Given the description of an element on the screen output the (x, y) to click on. 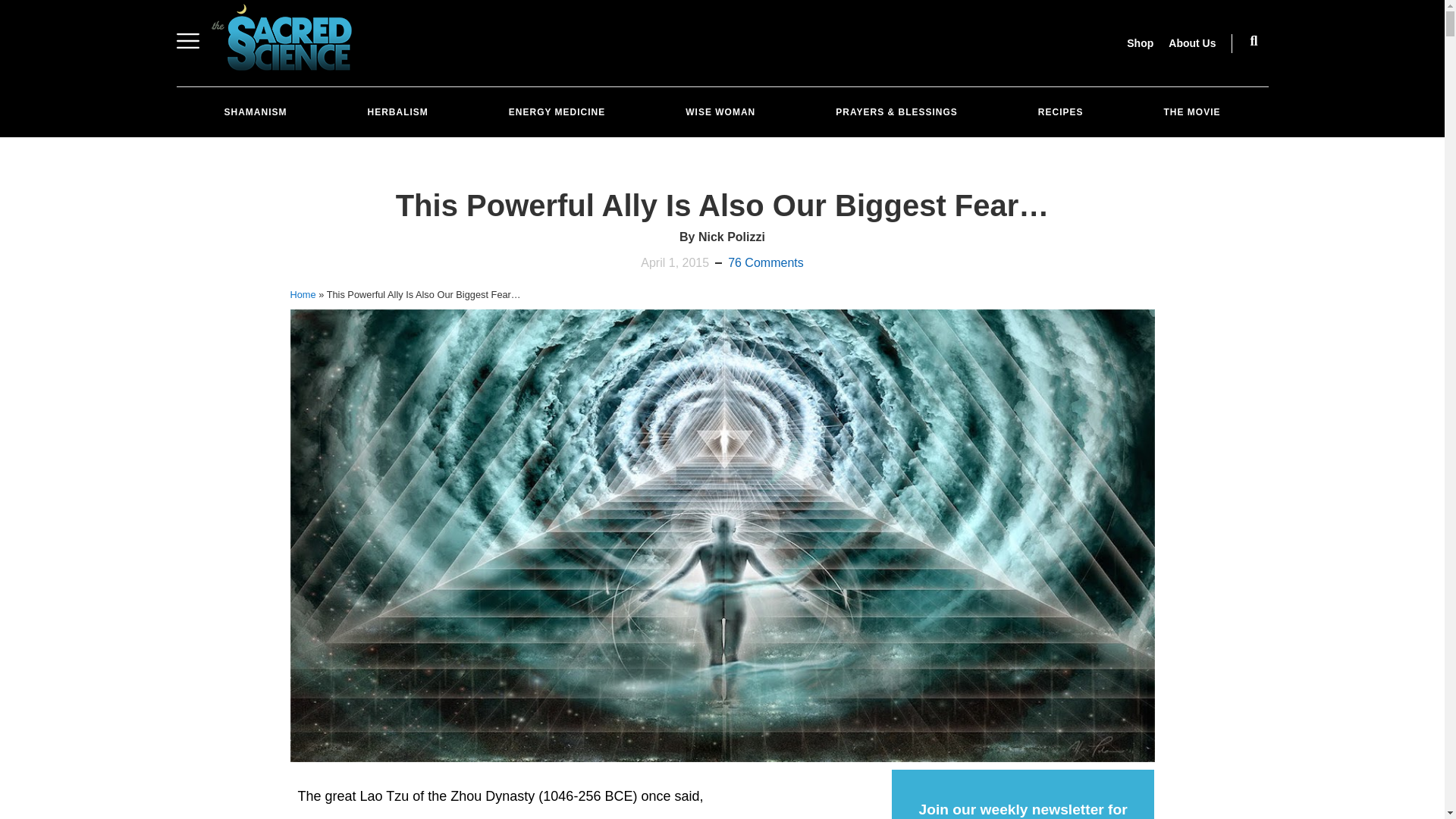
THE MOVIE (1192, 112)
HERBALISM (396, 112)
76 Comments (765, 262)
About Us (1191, 42)
WISE WOMAN (719, 112)
Shop (1139, 42)
RECIPES (1060, 112)
SHAMANISM (254, 112)
Home (302, 294)
ENERGY MEDICINE (556, 112)
